Given the description of an element on the screen output the (x, y) to click on. 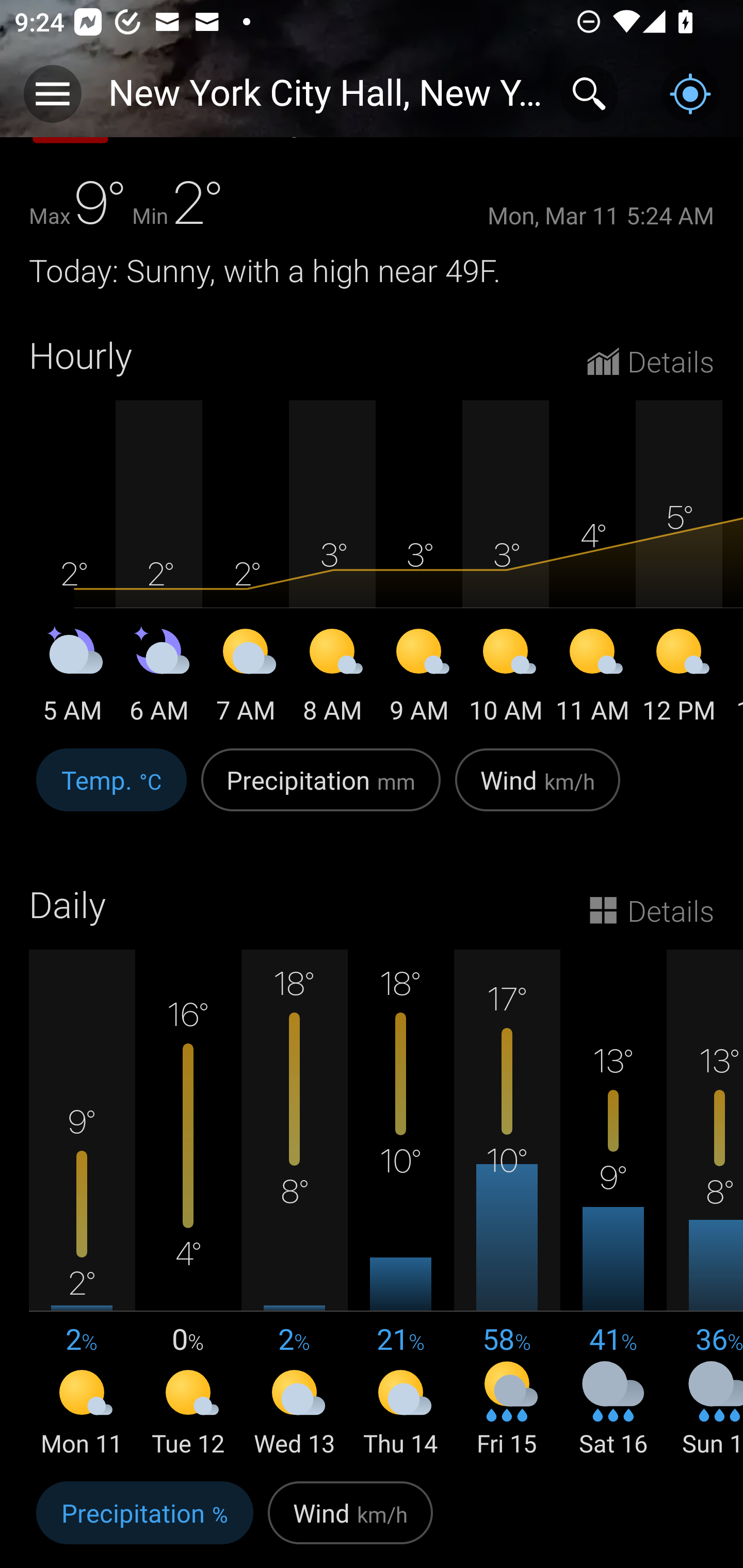
5 AM (71, 678)
6 AM (158, 678)
7 AM (245, 678)
8 AM (332, 678)
9 AM (418, 678)
10 AM (505, 678)
11 AM (592, 678)
12 PM (679, 678)
Temp. °C (110, 790)
Precipitation mm (320, 790)
Wind km/h (537, 790)
9° 2° 2 % Mon 11 (81, 1204)
16° 4° 0 % Tue 12 (188, 1204)
18° 8° 2 % Wed 13 (294, 1204)
18° 10° 21 % Thu 14 (400, 1204)
17° 10° 58 % Fri 15 (506, 1204)
13° 9° 41 % Sat 16 (613, 1204)
13° 8° 36 % Sun 17 (704, 1204)
Precipitation % (144, 1520)
Wind km/h (349, 1520)
